Given the description of an element on the screen output the (x, y) to click on. 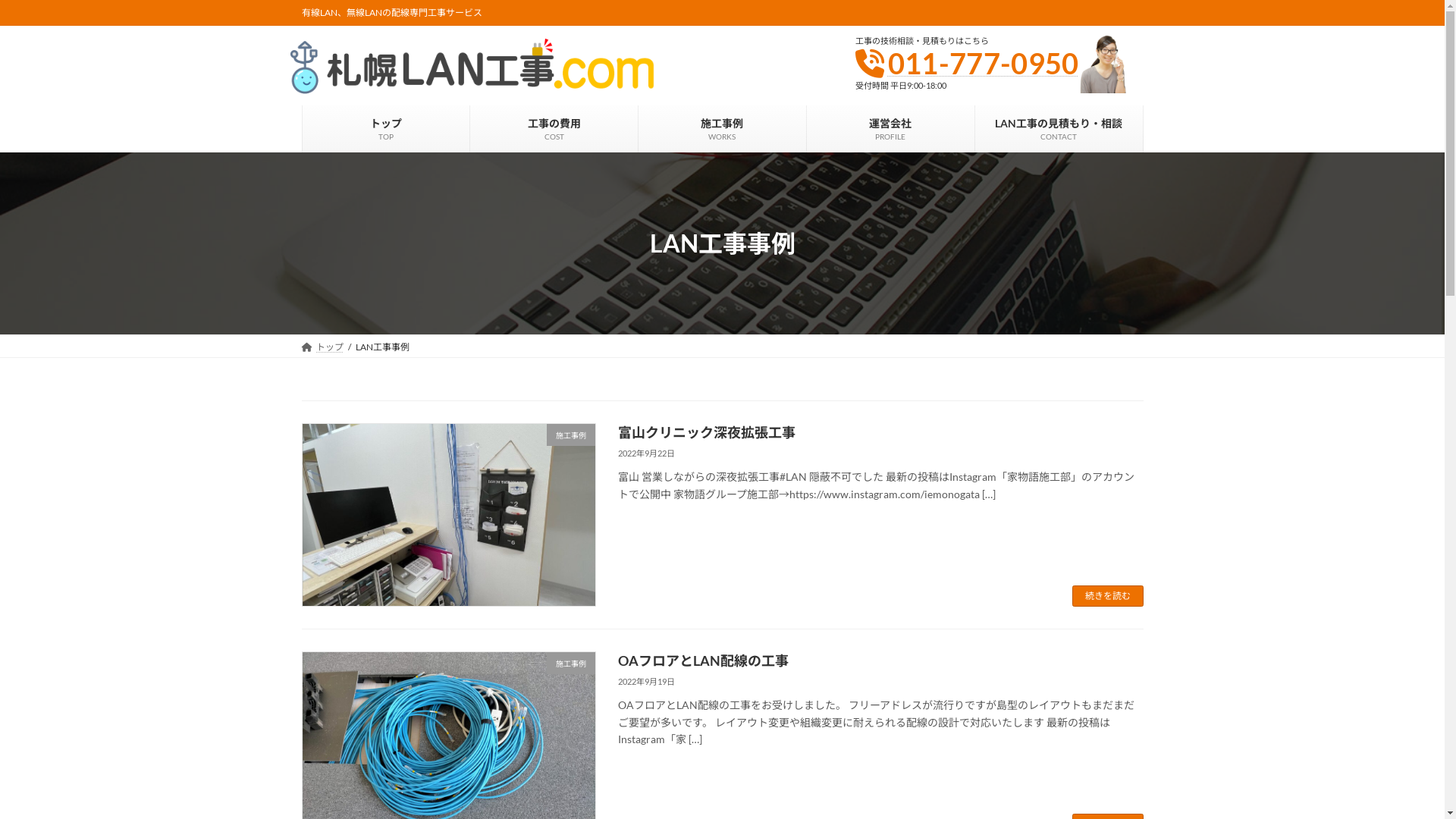
011-777-0950 Element type: text (983, 62)
